Given the description of an element on the screen output the (x, y) to click on. 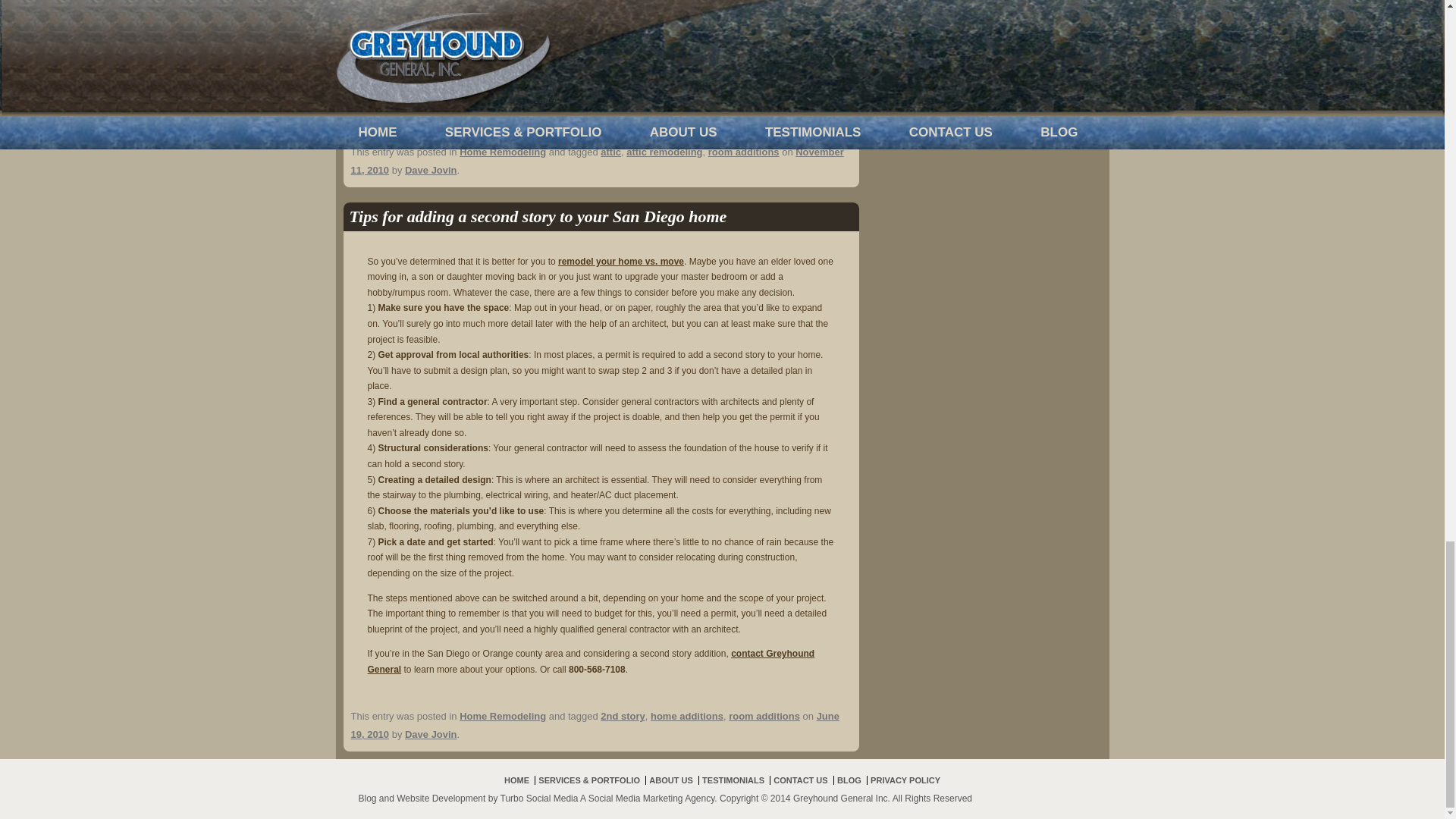
6:37 pm (594, 725)
12:54 am (596, 161)
View all posts by Dave Jovin (430, 170)
View all posts by Dave Jovin (430, 734)
